Given the description of an element on the screen output the (x, y) to click on. 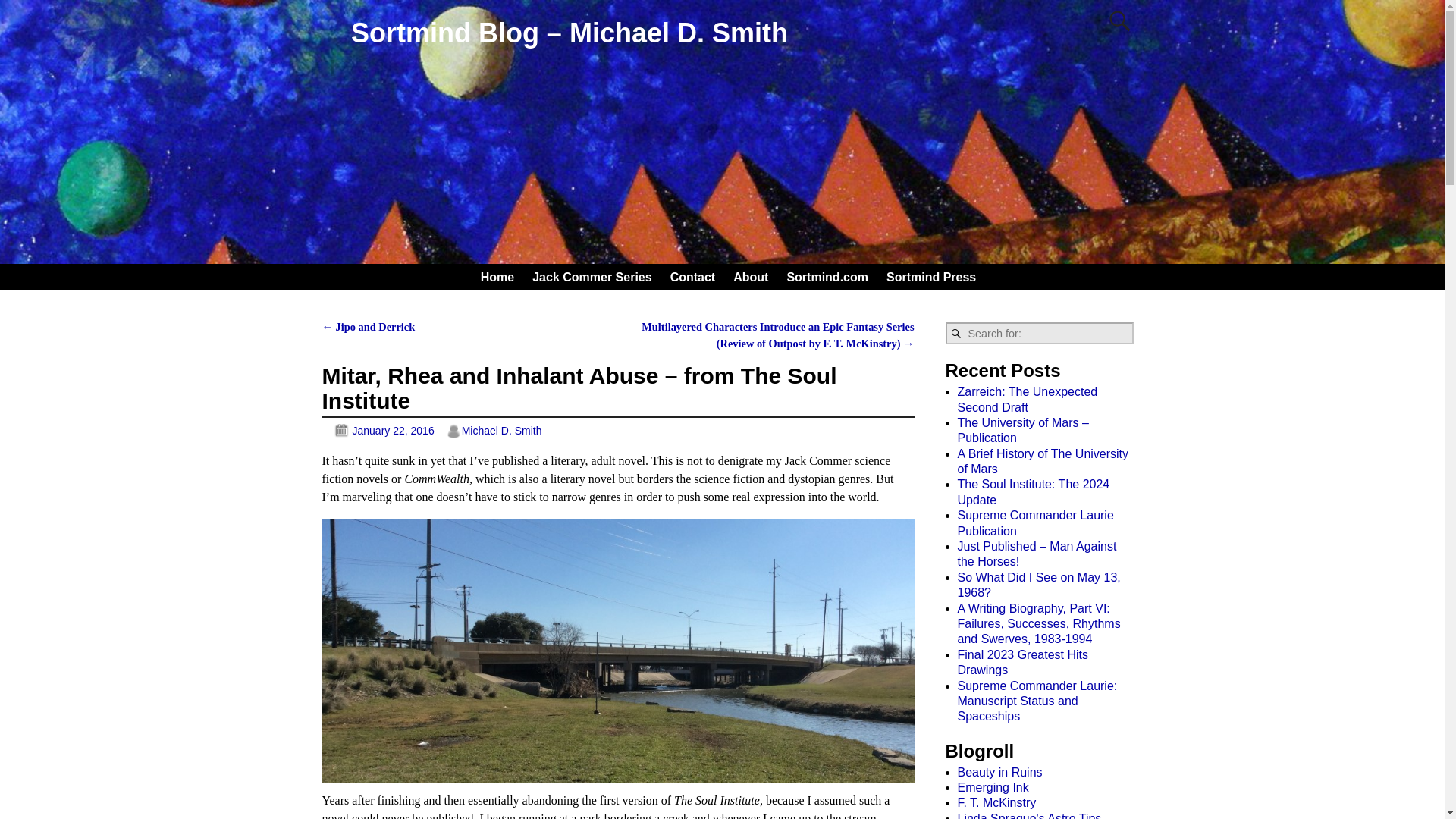
Michael D. Smith (501, 430)
View all posts by Michael D. Smith (501, 430)
Contact (693, 276)
About (750, 276)
Home (496, 276)
Sortmind Press (931, 276)
Home (496, 276)
January 22, 2016 (377, 430)
Jack Commer Series (591, 276)
